Given the description of an element on the screen output the (x, y) to click on. 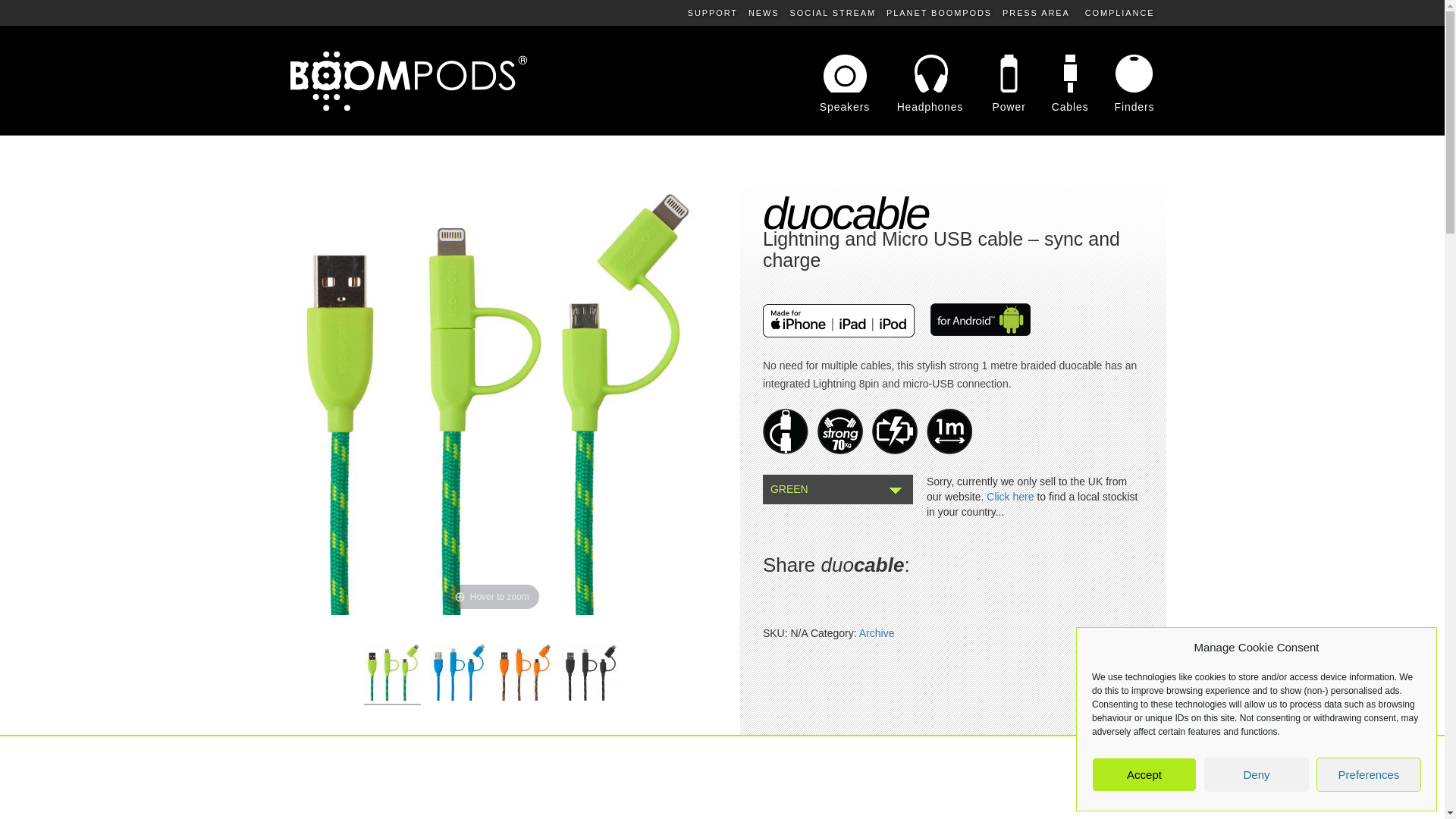
Planet Boompods (938, 12)
NEWS (763, 12)
Compliance (1119, 12)
SOCIAL STREAM (833, 12)
Finders (1123, 106)
Social Stream (833, 12)
Deny (1256, 774)
Power (999, 106)
Cables (1060, 106)
PLANET BOOMPODS (938, 12)
Boompods (407, 81)
COMPLIANCE (1119, 12)
Headphones (922, 106)
Press Area (1036, 12)
